Given the description of an element on the screen output the (x, y) to click on. 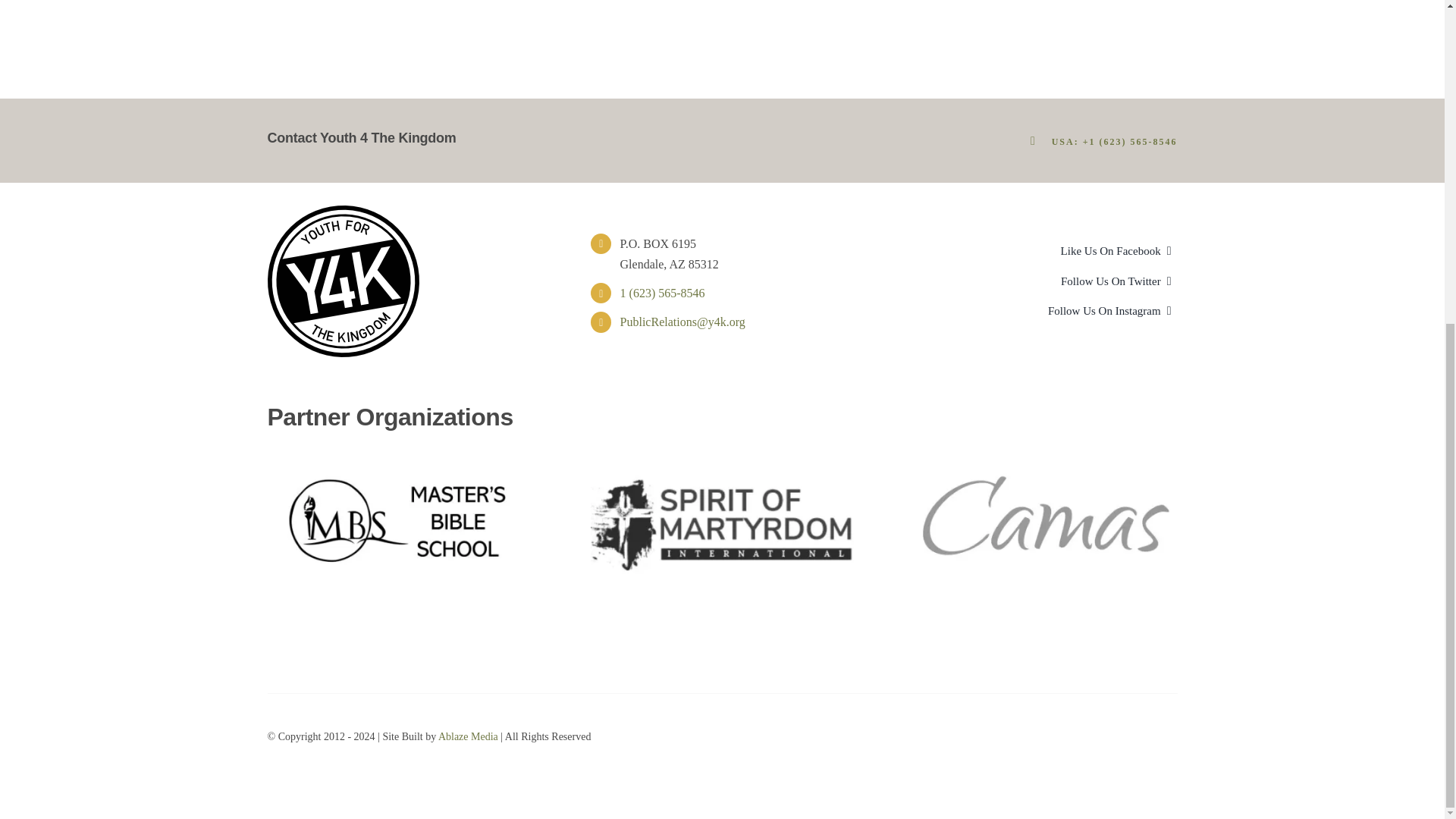
Y4K Logo 200px Black (343, 281)
